Given the description of an element on the screen output the (x, y) to click on. 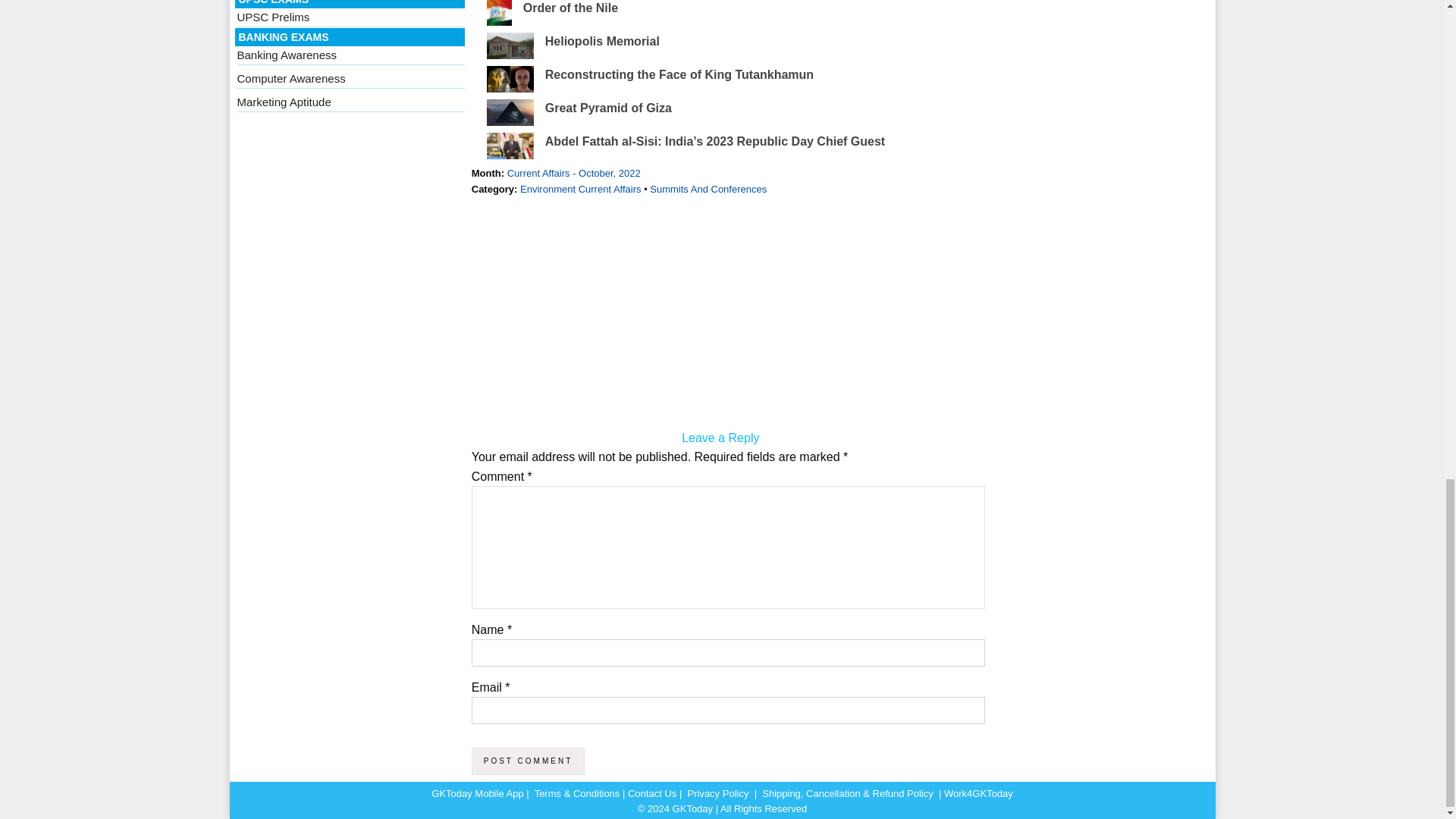
Reconstructing the Face of King Tutankhamun (678, 74)
Advertisement (720, 315)
Post Comment (528, 760)
Environment Current Affairs (579, 188)
Order of the Nile (569, 7)
Great Pyramid of Giza (607, 107)
Current Affairs - October, 2022 (573, 173)
Order of the Nile (569, 7)
Heliopolis Memorial (601, 41)
Post Comment (528, 760)
Great Pyramid of Giza (607, 107)
Reconstructing the Face of King Tutankhamun (678, 74)
Heliopolis Memorial (601, 41)
Summits And Conferences (708, 188)
